Given the description of an element on the screen output the (x, y) to click on. 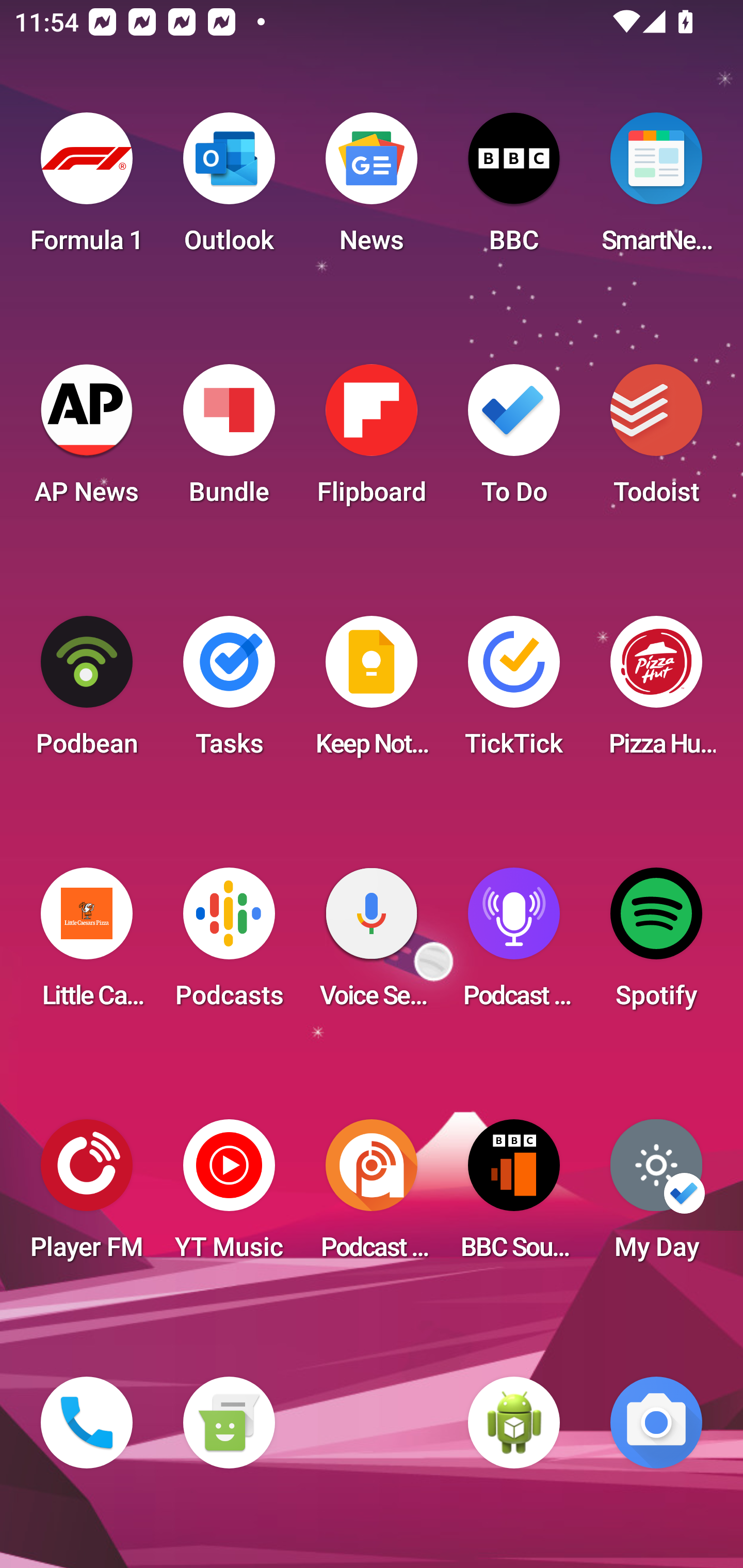
Formula 1 (86, 188)
Outlook (228, 188)
News (371, 188)
BBC (513, 188)
SmartNews (656, 188)
AP News (86, 440)
Bundle (228, 440)
Flipboard (371, 440)
To Do (513, 440)
Todoist (656, 440)
Podbean (86, 692)
Tasks (228, 692)
Keep Notes (371, 692)
TickTick (513, 692)
Pizza Hut HK & Macau (656, 692)
Little Caesars Pizza (86, 943)
Podcasts (228, 943)
Voice Search (371, 943)
Podcast Player (513, 943)
Spotify (656, 943)
Player FM (86, 1195)
YT Music (228, 1195)
Podcast Addict (371, 1195)
BBC Sounds (513, 1195)
My Day (656, 1195)
Phone (86, 1422)
Messaging (228, 1422)
WebView Browser Tester (513, 1422)
Camera (656, 1422)
